Given the description of an element on the screen output the (x, y) to click on. 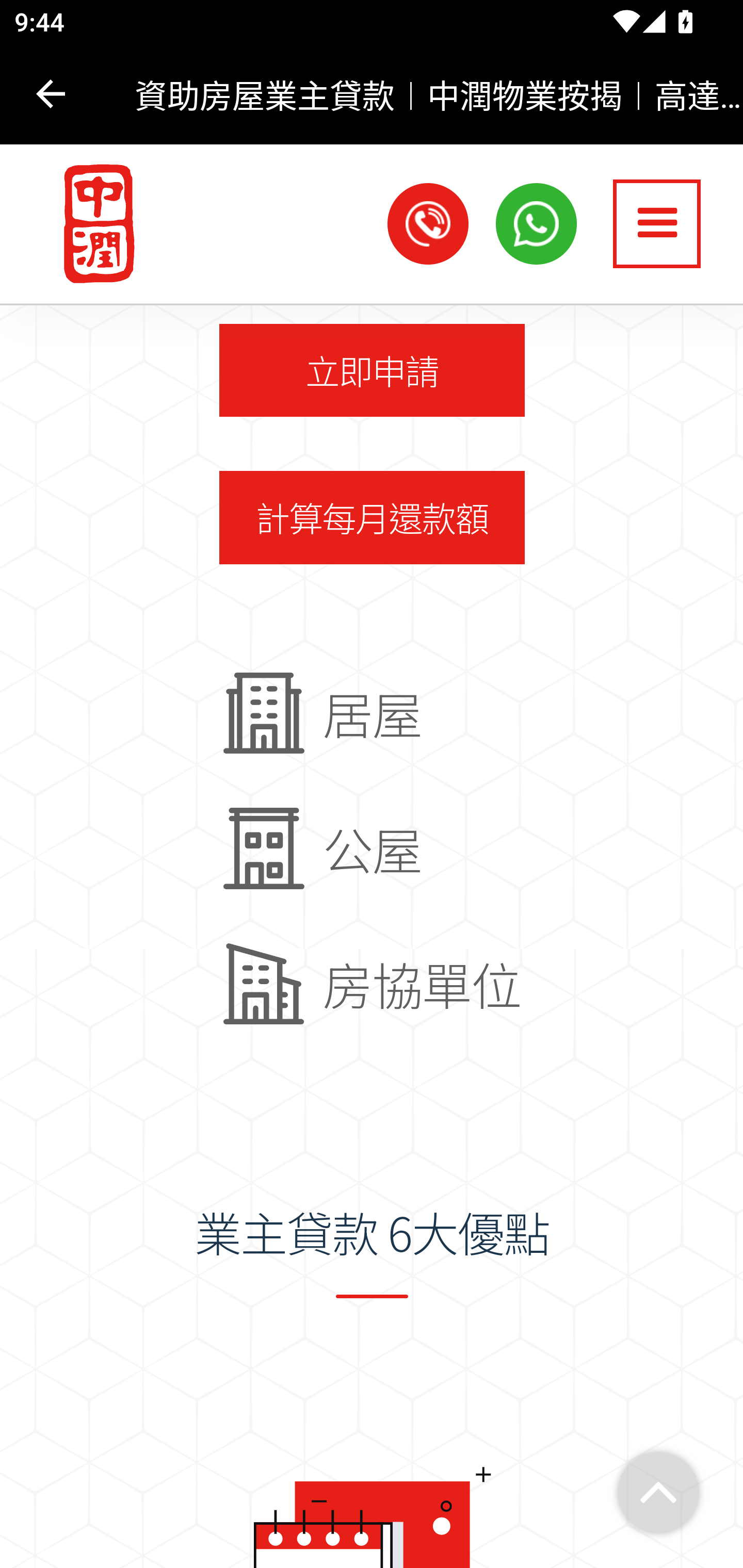
Navigate up (50, 93)
home 中潤物業按揭有限公司 (90, 224)
menu (657, 224)
電話 (427, 223)
whatsapp (536, 223)
立即申請 (371, 370)
計算每月還款額 (371, 518)
TOP (658, 1493)
